Given the description of an element on the screen output the (x, y) to click on. 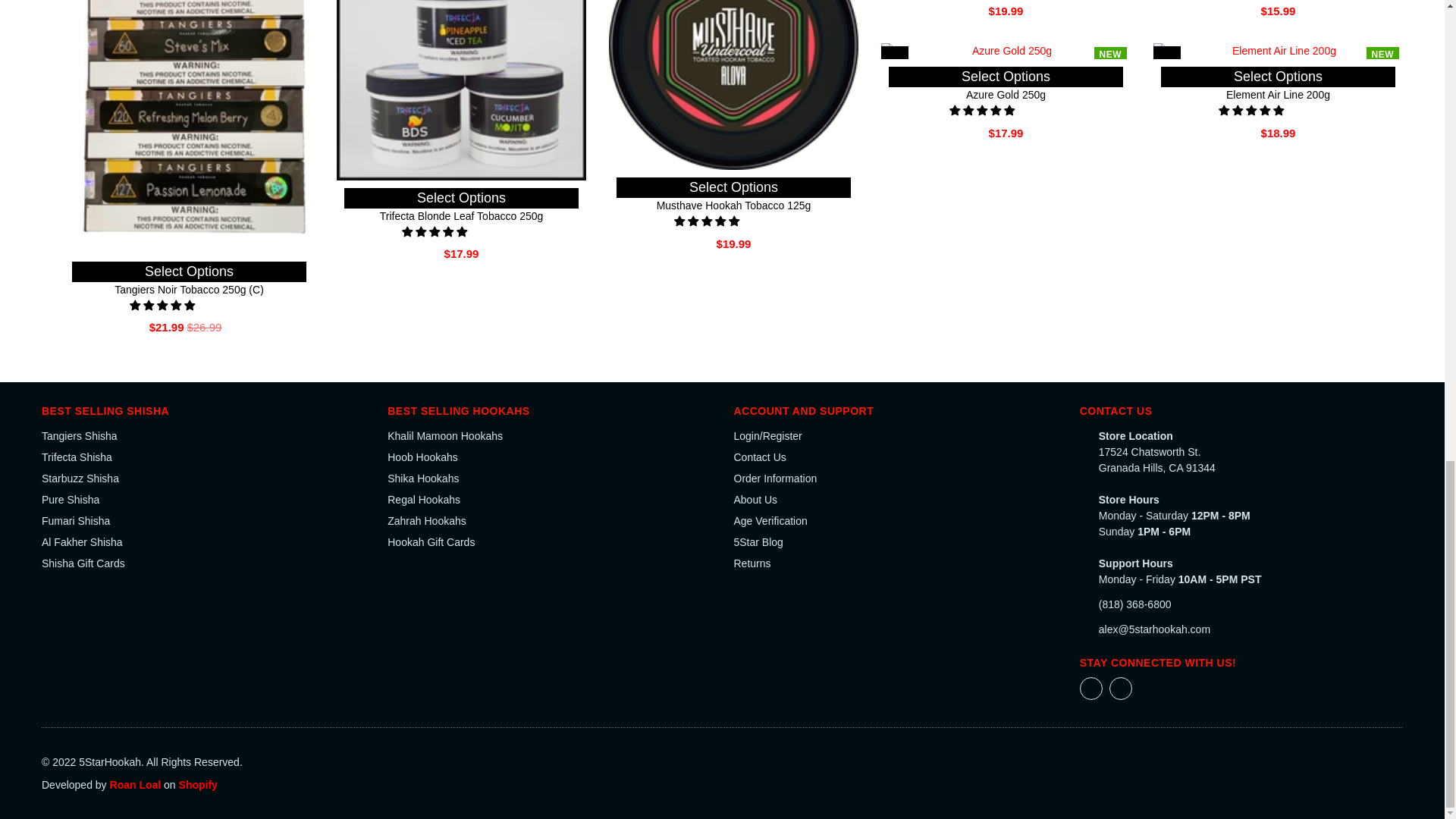
Select Options (732, 186)
Select Options (460, 197)
Select Options (188, 271)
